Given the description of an element on the screen output the (x, y) to click on. 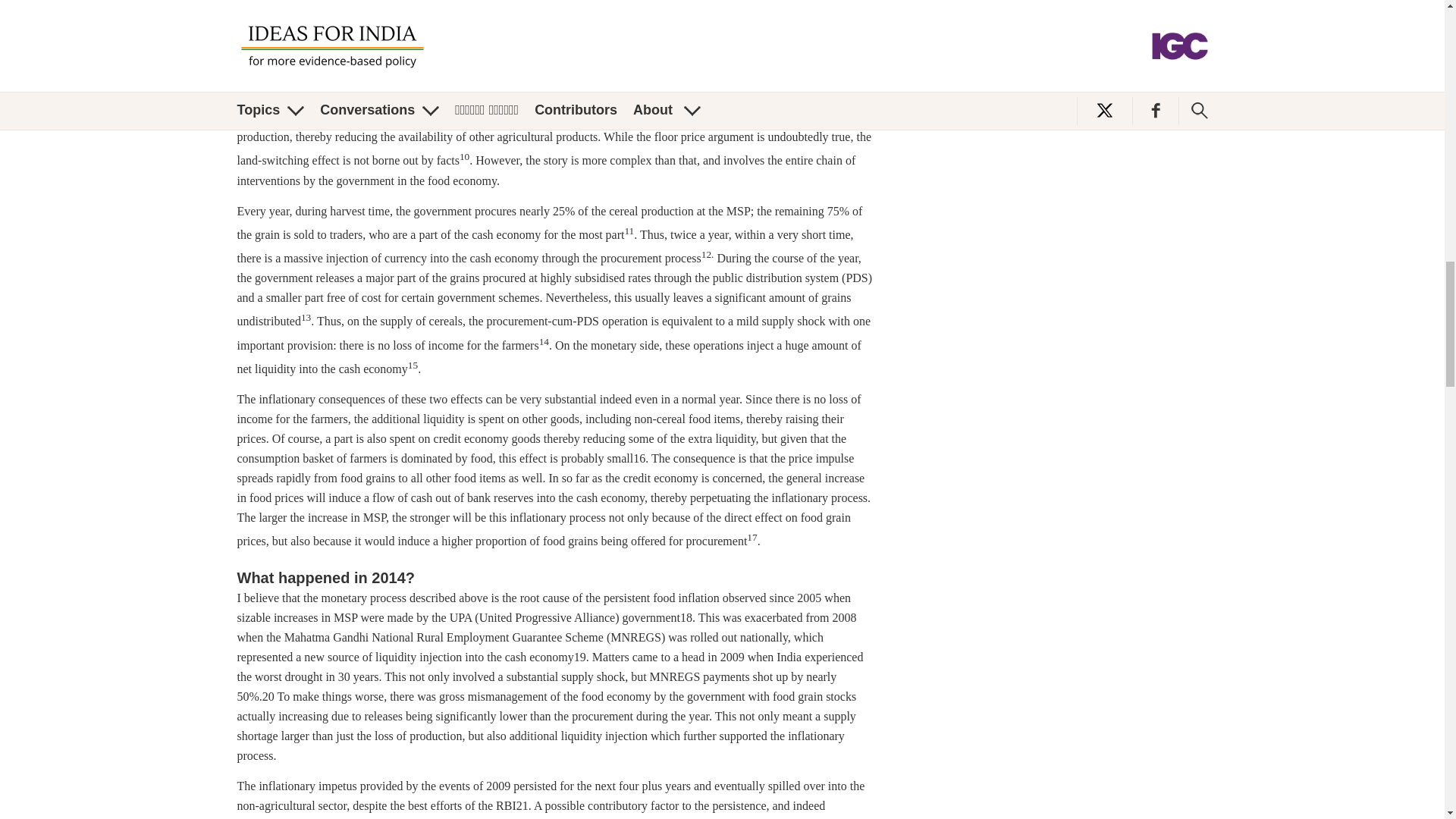
Submit (1155, 17)
Submit (1155, 17)
